Given the description of an element on the screen output the (x, y) to click on. 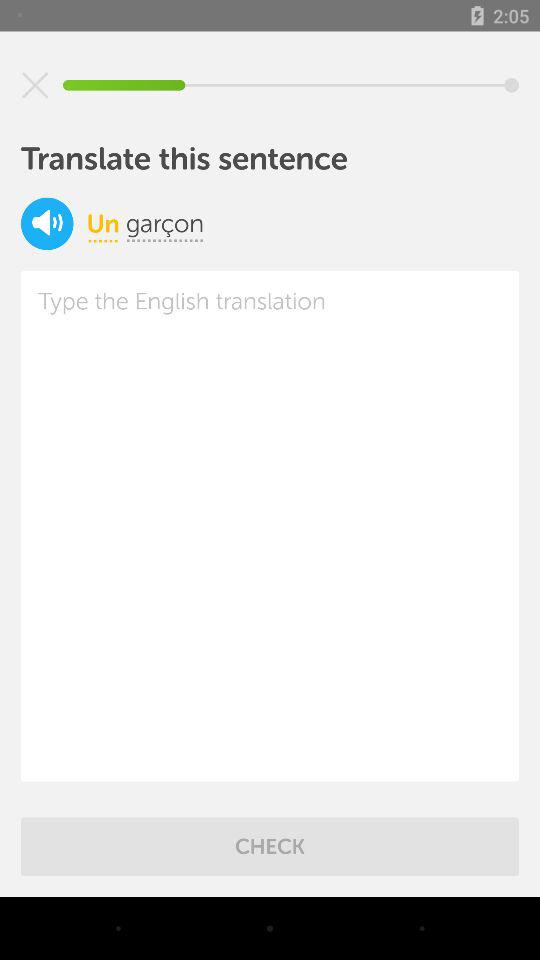
close the screen (35, 85)
